Given the description of an element on the screen output the (x, y) to click on. 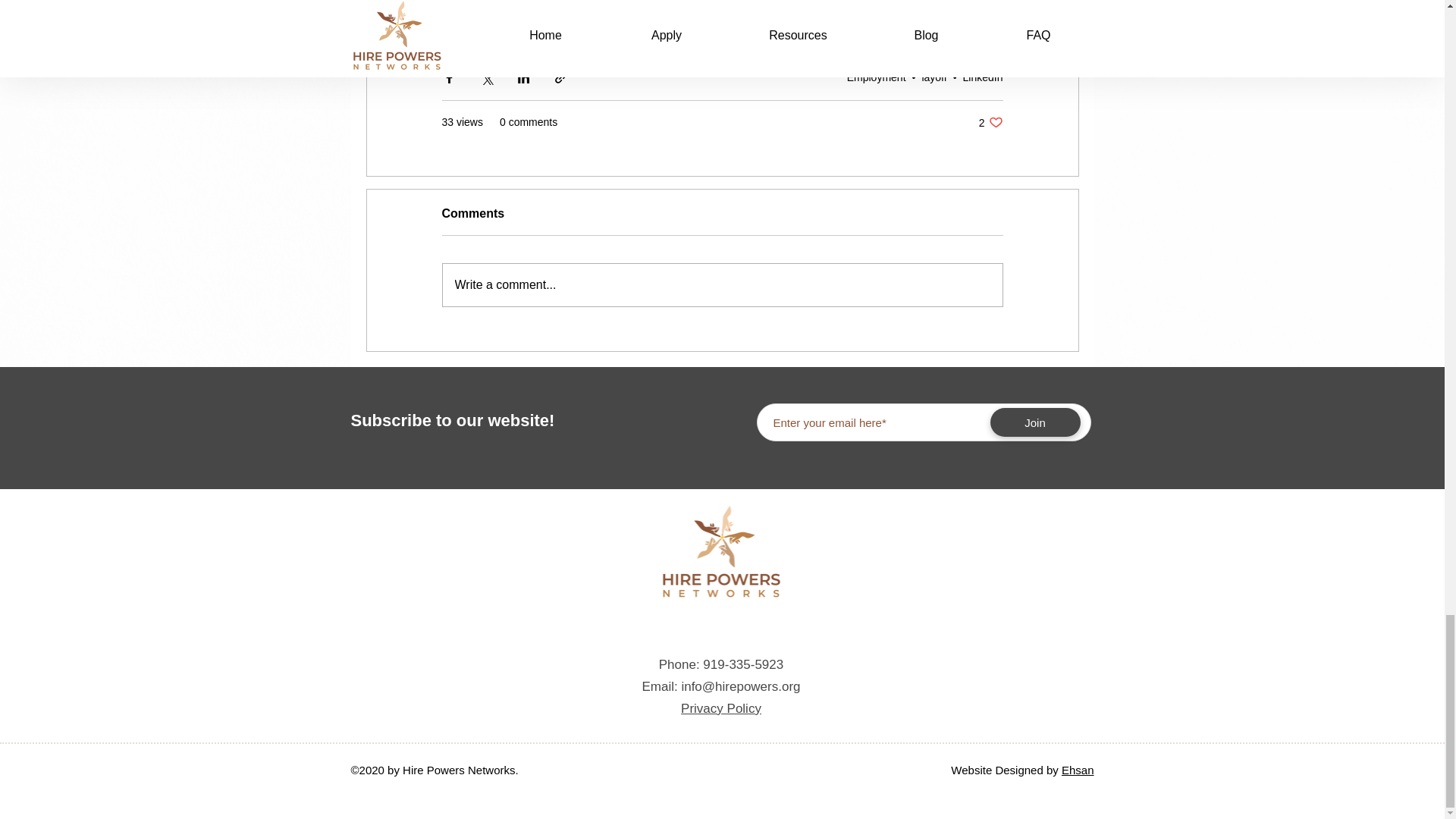
Privacy Policy (721, 708)
Write a comment... (722, 284)
Join (1035, 421)
LinkedIn (990, 122)
Employment (982, 77)
layoff (876, 77)
Ehsan (933, 77)
